Given the description of an element on the screen output the (x, y) to click on. 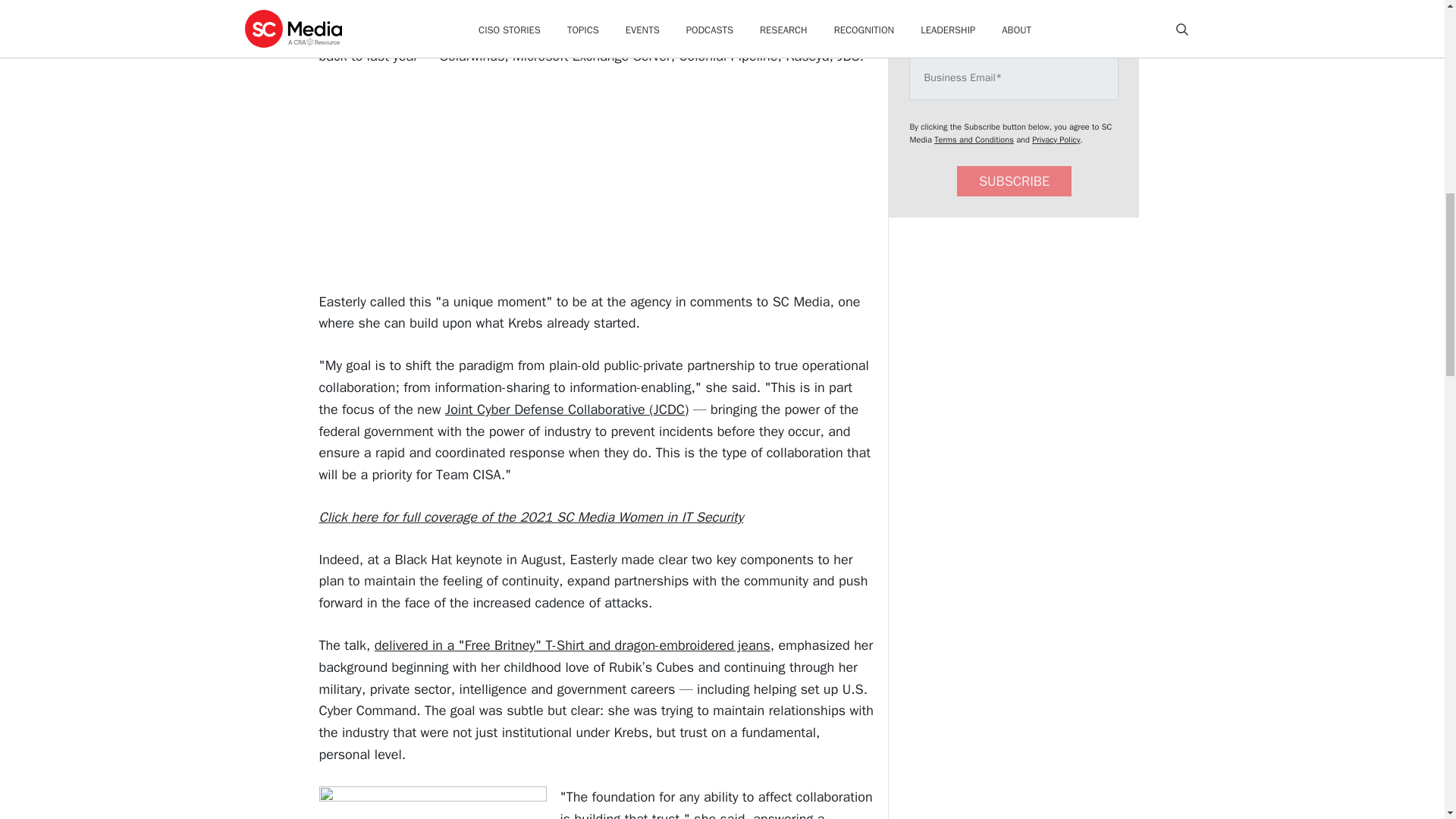
Privacy Policy (1056, 139)
Terms and Conditions (973, 139)
SUBSCRIBE (1013, 181)
